Given the description of an element on the screen output the (x, y) to click on. 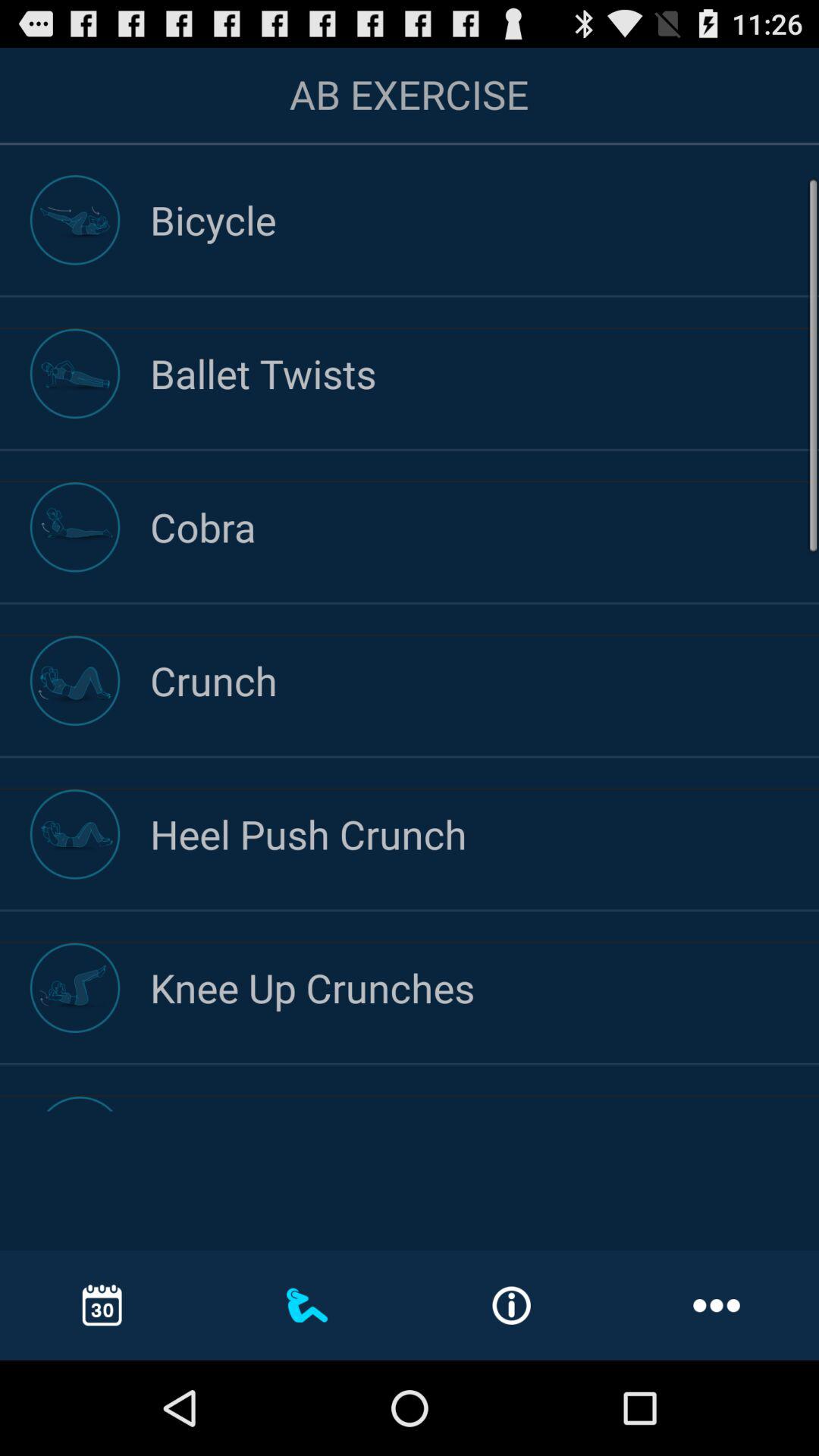
scroll to the ballet twists (484, 372)
